Given the description of an element on the screen output the (x, y) to click on. 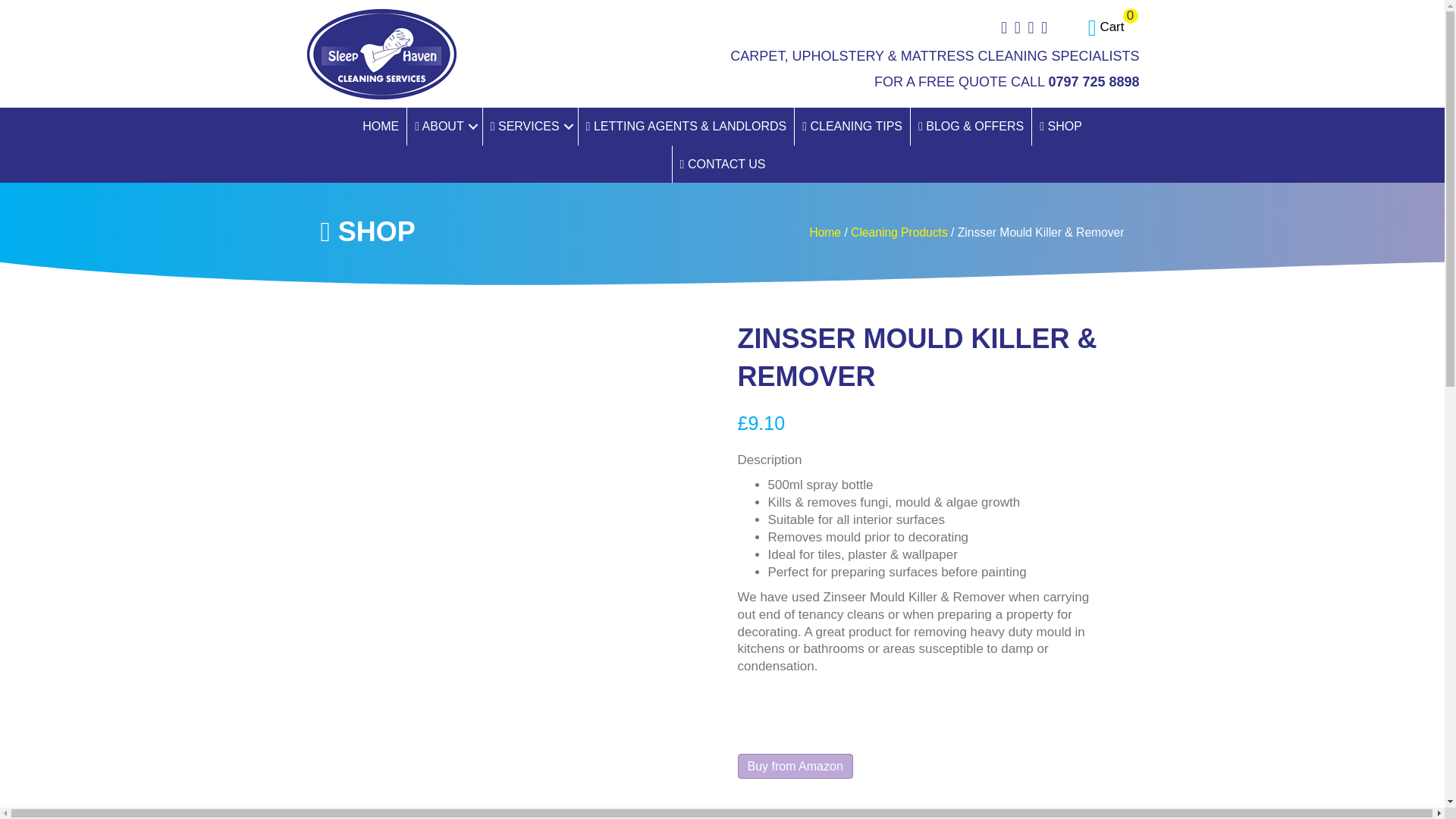
CLEANING TIPS (1105, 26)
HOME (852, 126)
View your shopping cart (380, 126)
SERVICES (1105, 26)
ABOUT (530, 126)
CONTACT US (444, 126)
Cleaning Products (722, 164)
SHOP (898, 232)
Home (1060, 126)
